Given the description of an element on the screen output the (x, y) to click on. 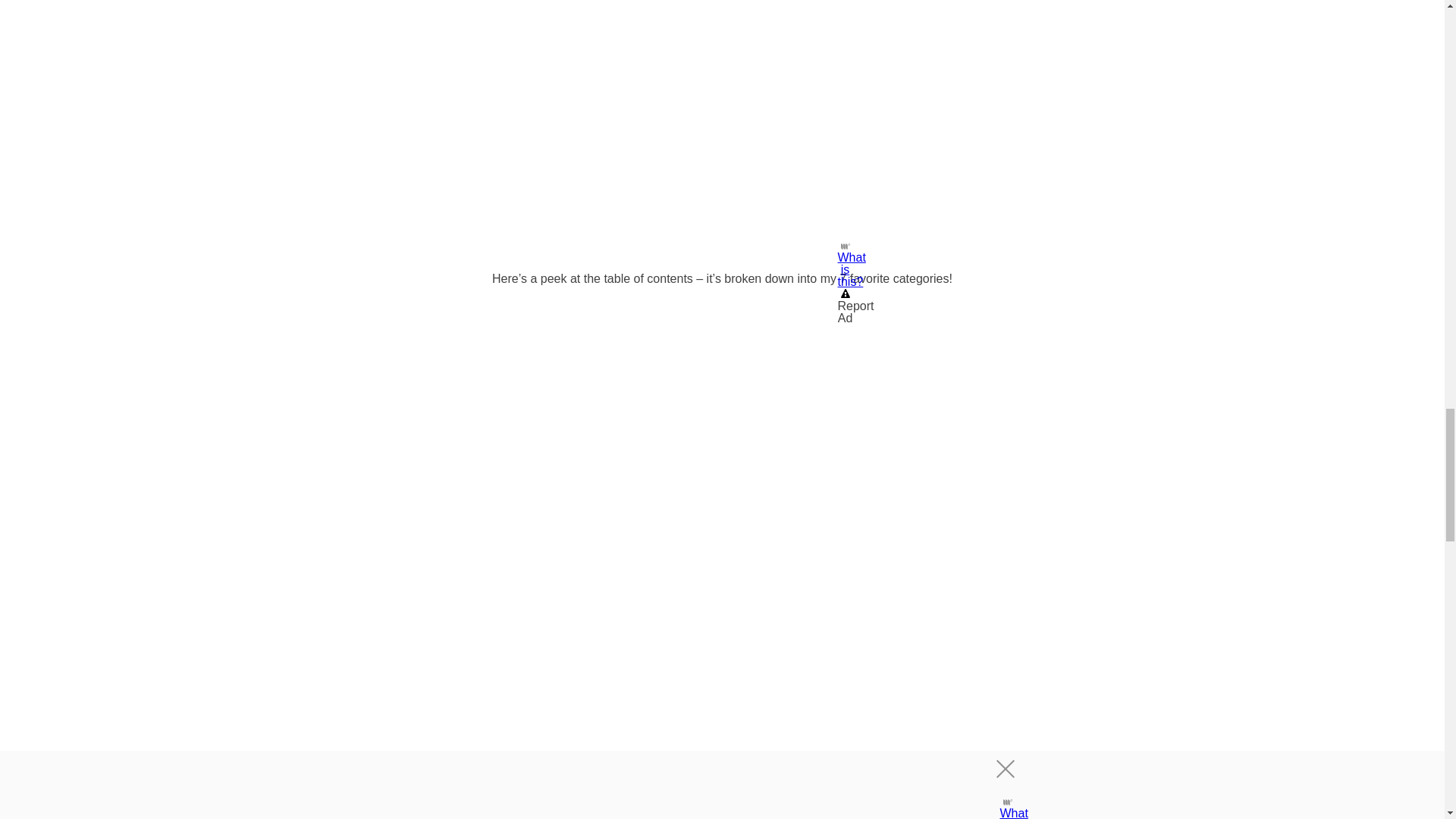
3rd party ad content (721, 159)
3rd party ad content (721, 740)
